Given the description of an element on the screen output the (x, y) to click on. 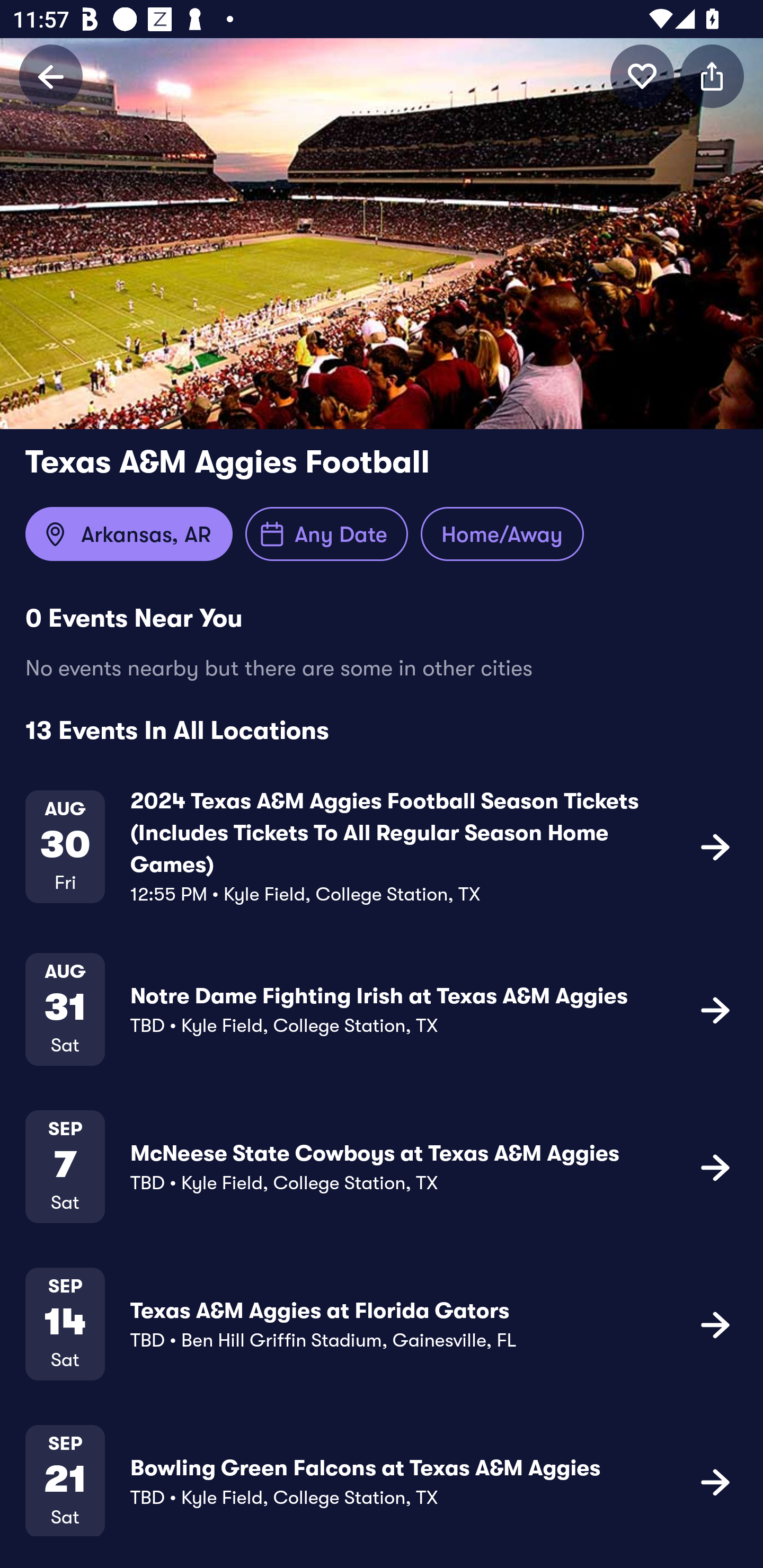
Back (50, 75)
icon button (641, 75)
icon button (711, 75)
Arkansas, AR (128, 533)
Any Date (326, 533)
Home/Away (501, 533)
icon button (714, 846)
icon button (714, 1009)
icon button (714, 1166)
icon button (714, 1323)
icon button (714, 1481)
